Given the description of an element on the screen output the (x, y) to click on. 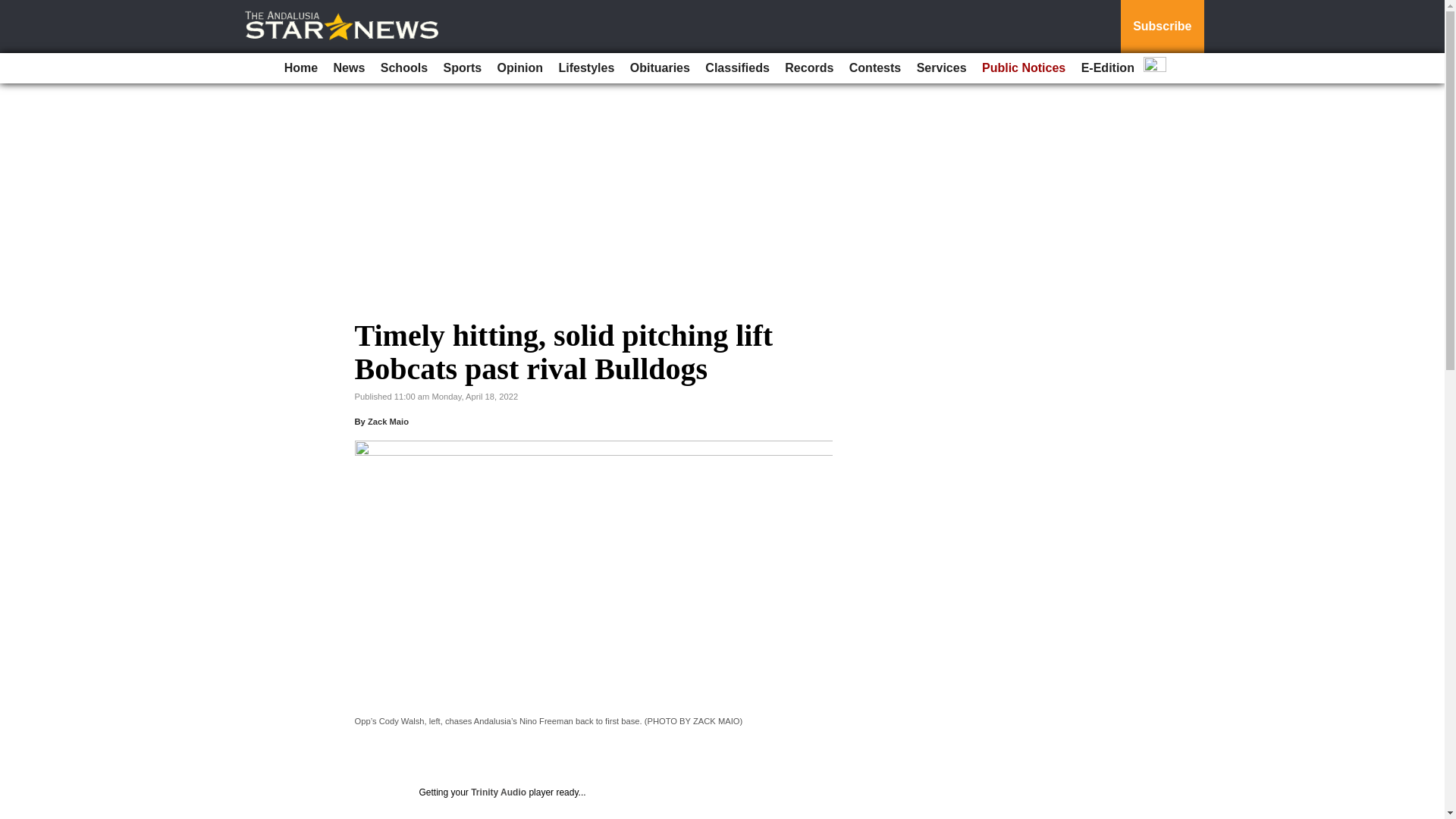
Public Notices (1023, 68)
Contests (875, 68)
Zack Maio (388, 420)
Trinity Audio (497, 792)
Subscribe (1162, 26)
Services (941, 68)
Sports (461, 68)
Opinion (520, 68)
Records (809, 68)
E-Edition (1107, 68)
